Given the description of an element on the screen output the (x, y) to click on. 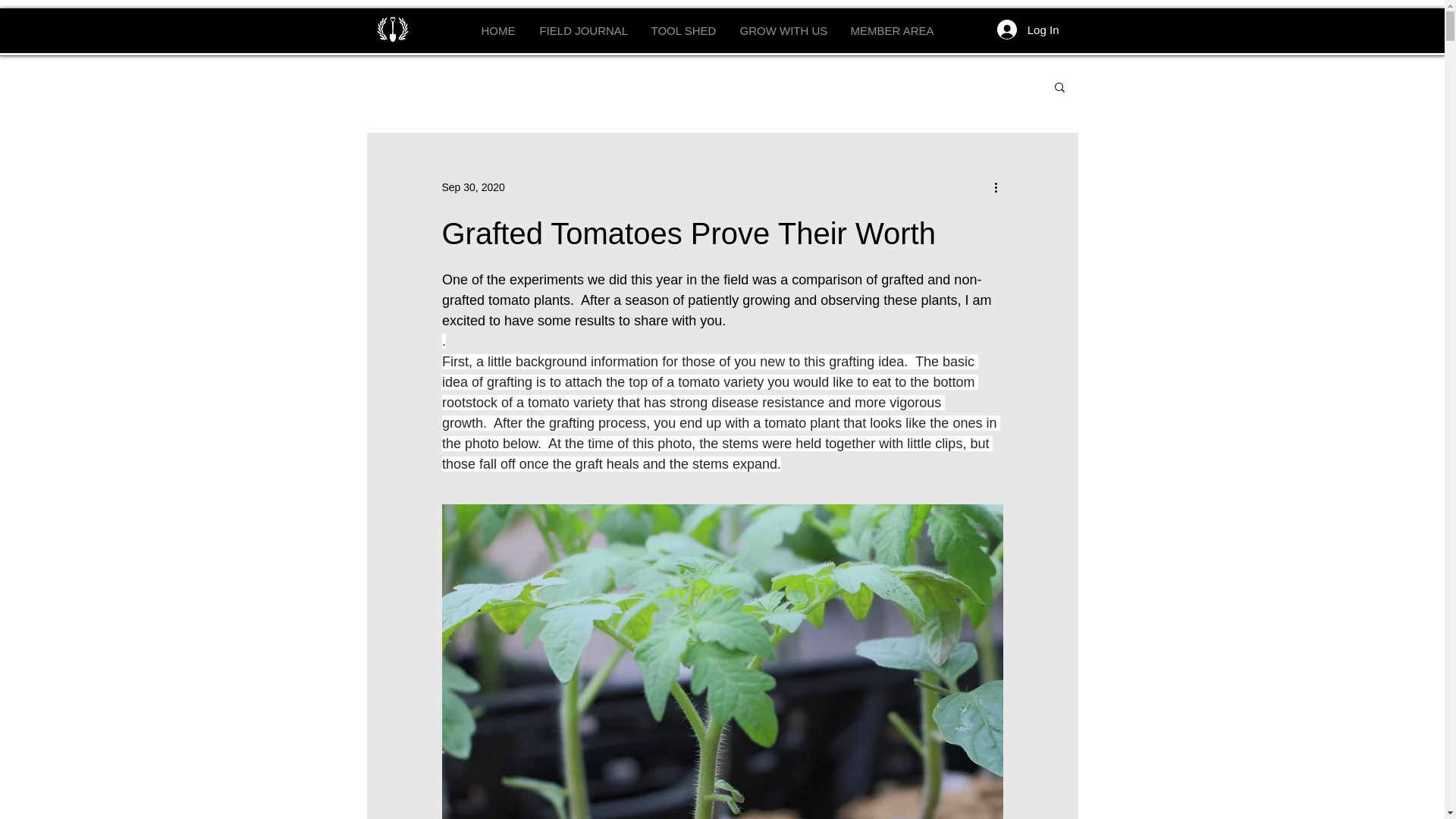
FIELD JOURNAL (583, 30)
TOOL SHED (684, 30)
Sep 30, 2020 (472, 186)
HOME (499, 30)
GROW WITH US (783, 30)
MEMBER AREA (890, 30)
Log In (1028, 29)
